Given the description of an element on the screen output the (x, y) to click on. 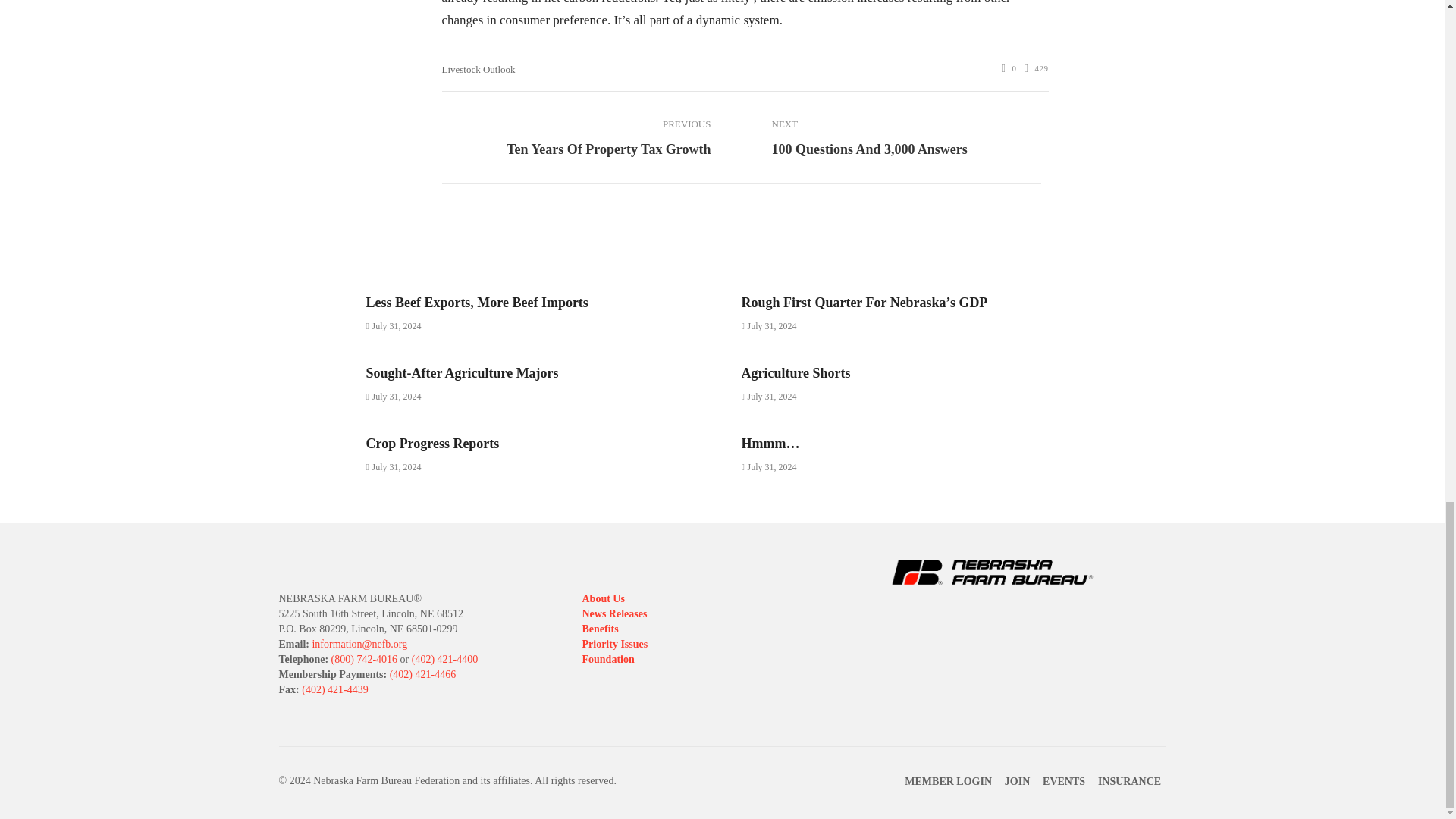
0 Comments (1008, 68)
July 31, 2024 at 9:05 am (768, 326)
429 Views (1036, 68)
July 31, 2024 at 9:06 am (392, 326)
